Given the description of an element on the screen output the (x, y) to click on. 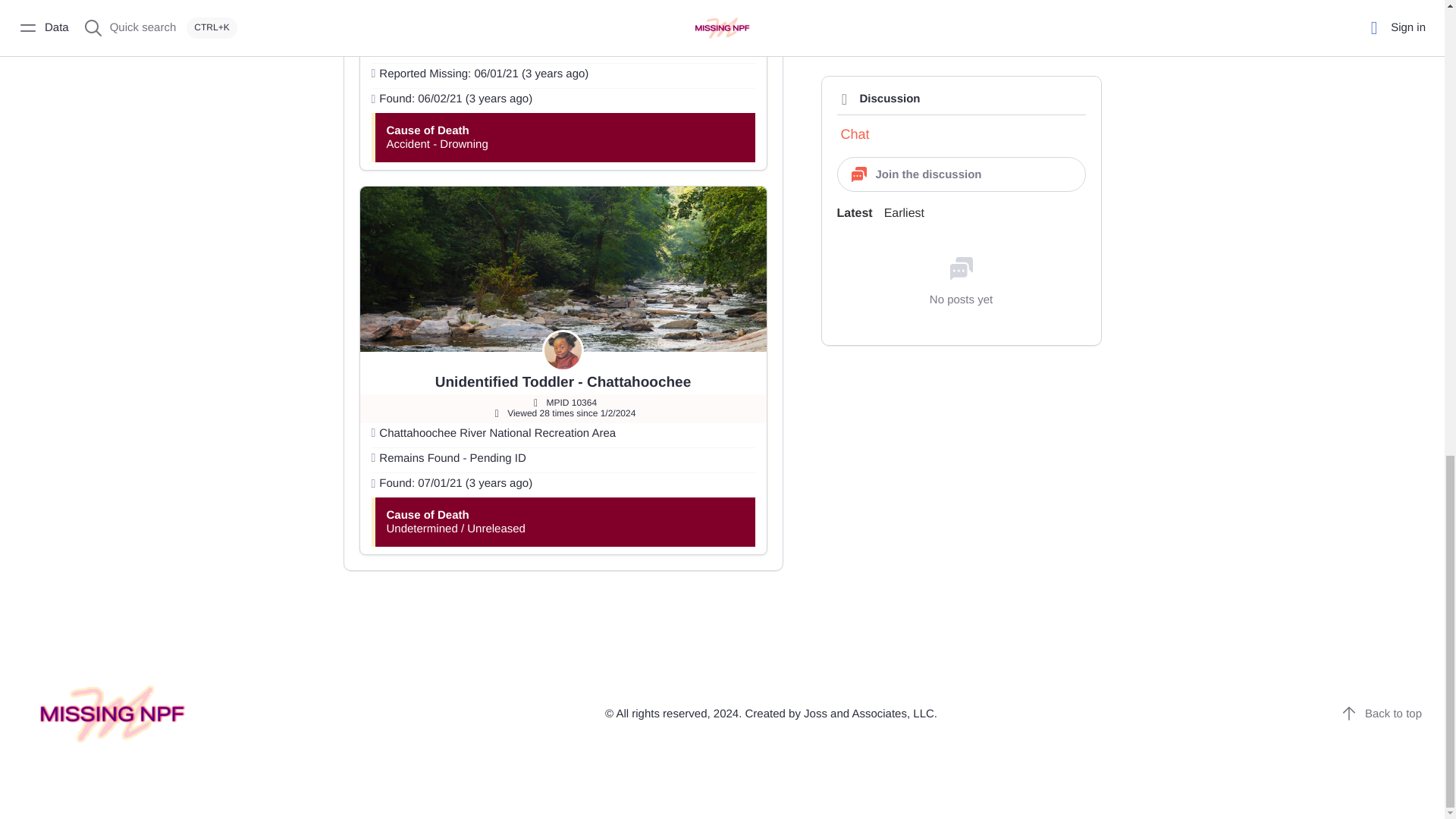
Unidentified Toddler - Chattahoochee (562, 382)
Back to top (1381, 713)
